Given the description of an element on the screen output the (x, y) to click on. 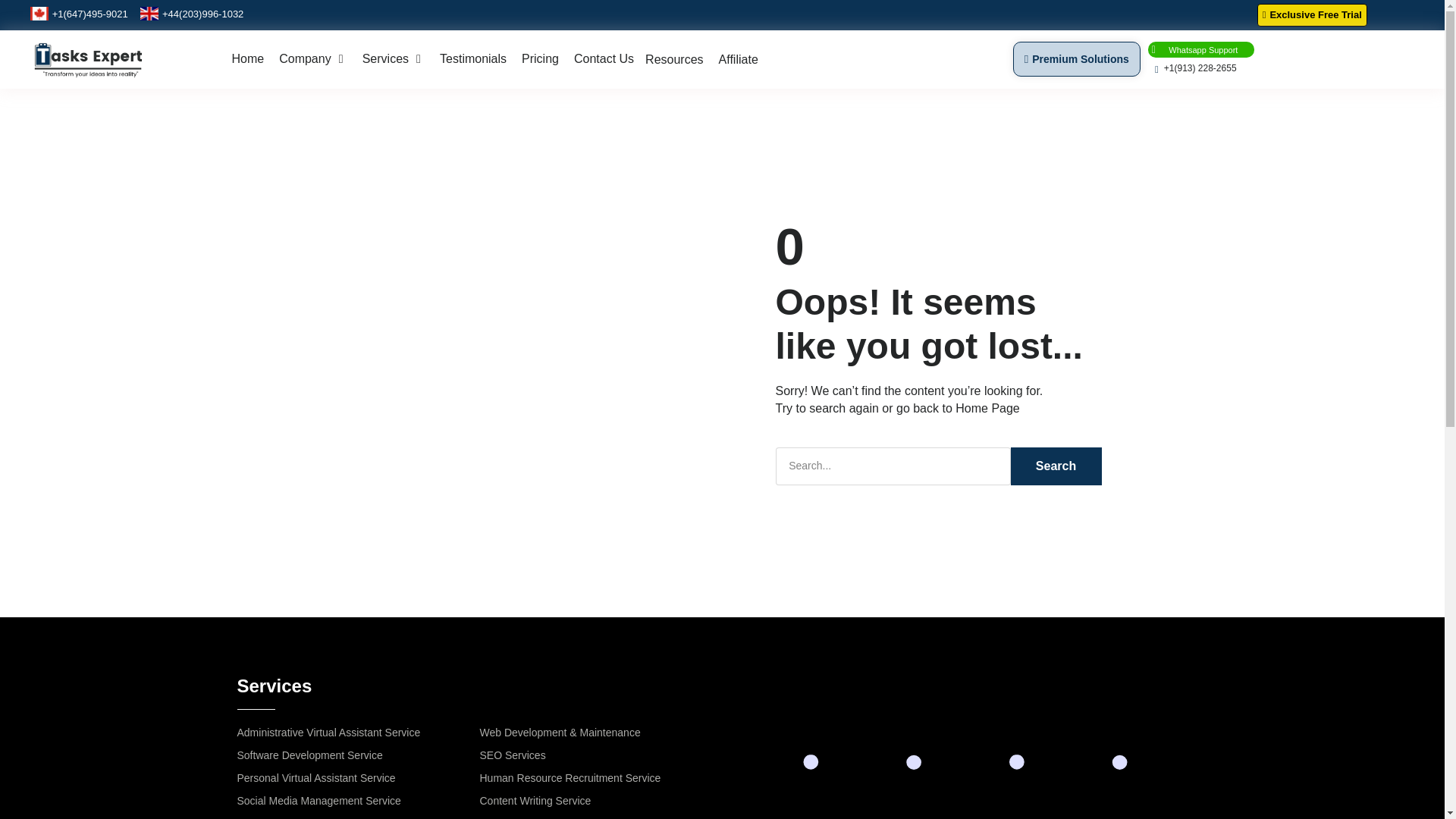
Exclusive Free Trial (1312, 15)
Company (304, 58)
Services (385, 58)
Home (247, 58)
